Given the description of an element on the screen output the (x, y) to click on. 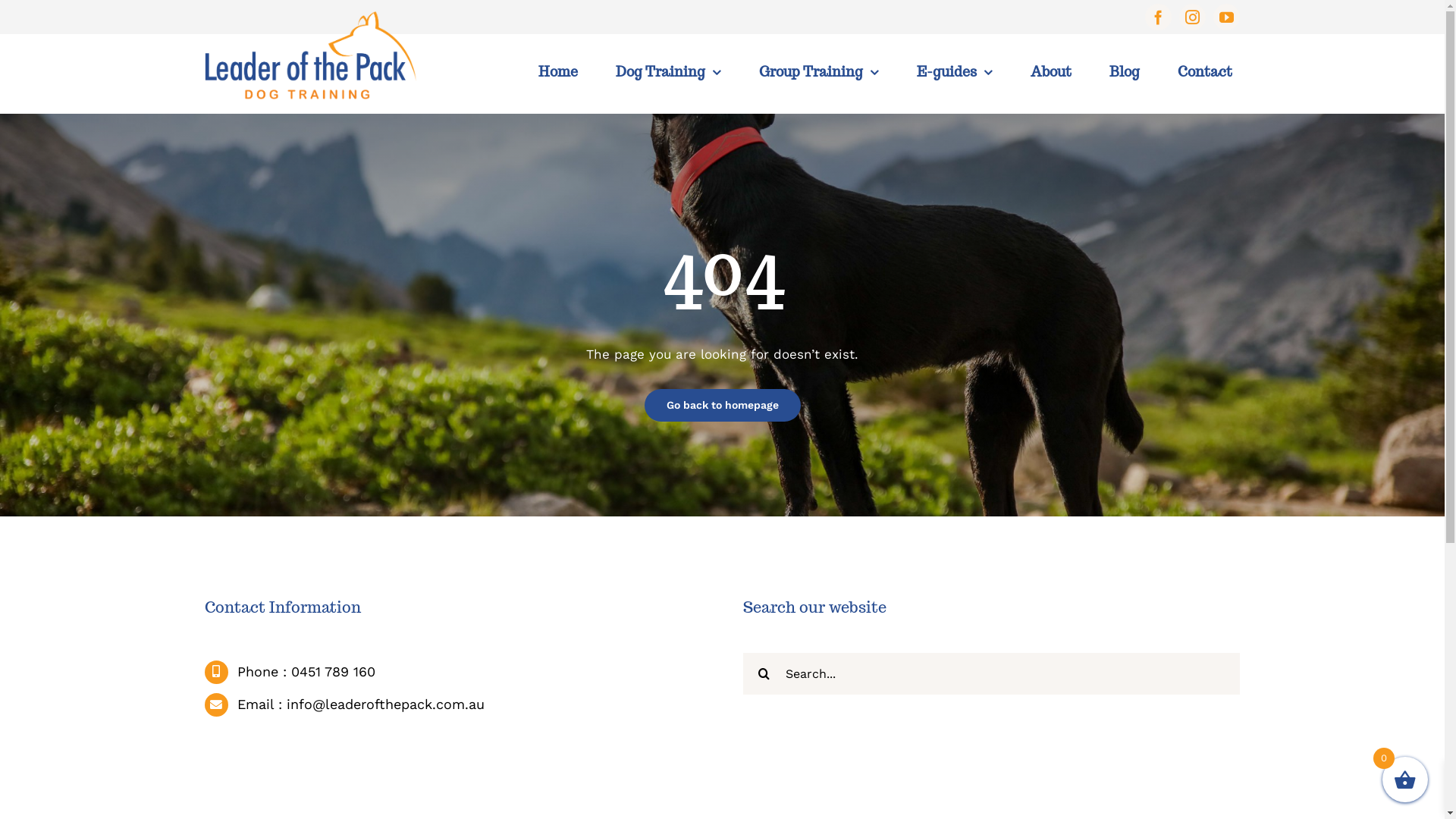
Home Element type: text (557, 72)
Dog Training Element type: text (668, 72)
Blog Element type: text (1124, 72)
Contact Element type: text (1204, 72)
Go back to homepage Element type: text (722, 405)
0451 789 160 Element type: text (333, 671)
Group Training Element type: text (818, 72)
info@leaderofthepack.com.au Element type: text (385, 704)
About Element type: text (1050, 72)
E-guides Element type: text (954, 72)
